Given the description of an element on the screen output the (x, y) to click on. 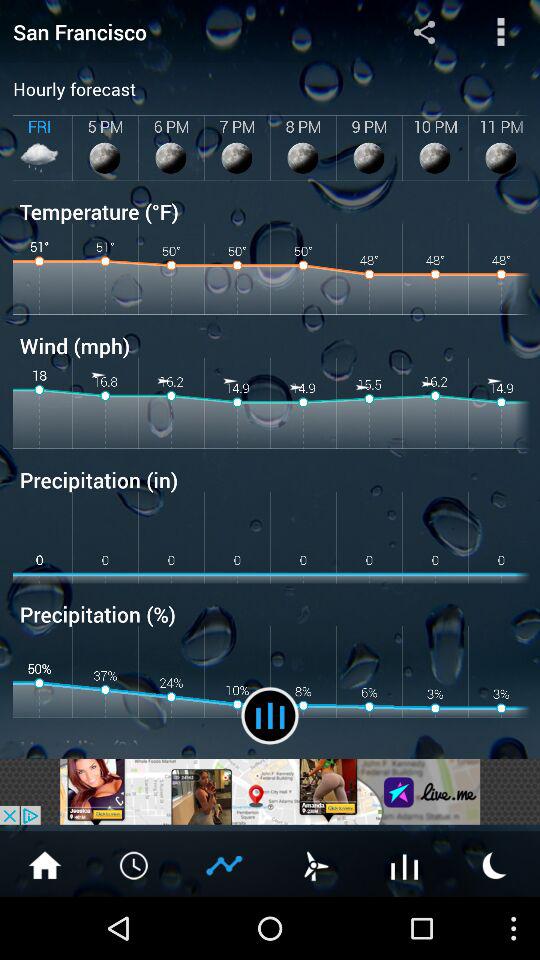
turn off the item above the hourly forecast icon (500, 31)
